Given the description of an element on the screen output the (x, y) to click on. 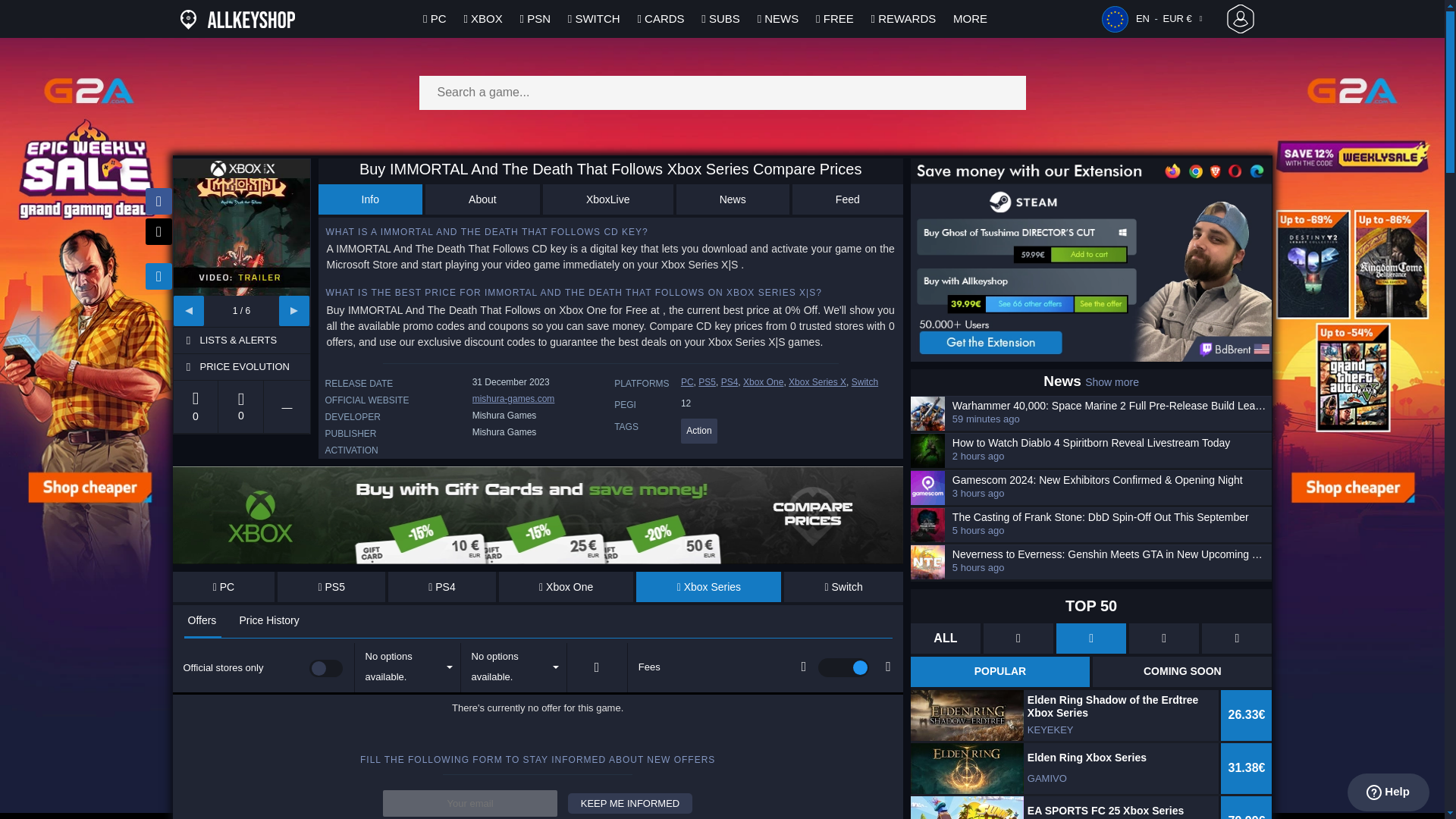
PSN (535, 18)
 PS5 (331, 586)
 PC (224, 586)
Price evolution (252, 366)
XBOX (482, 18)
SWITCH (594, 18)
